Given the description of an element on the screen output the (x, y) to click on. 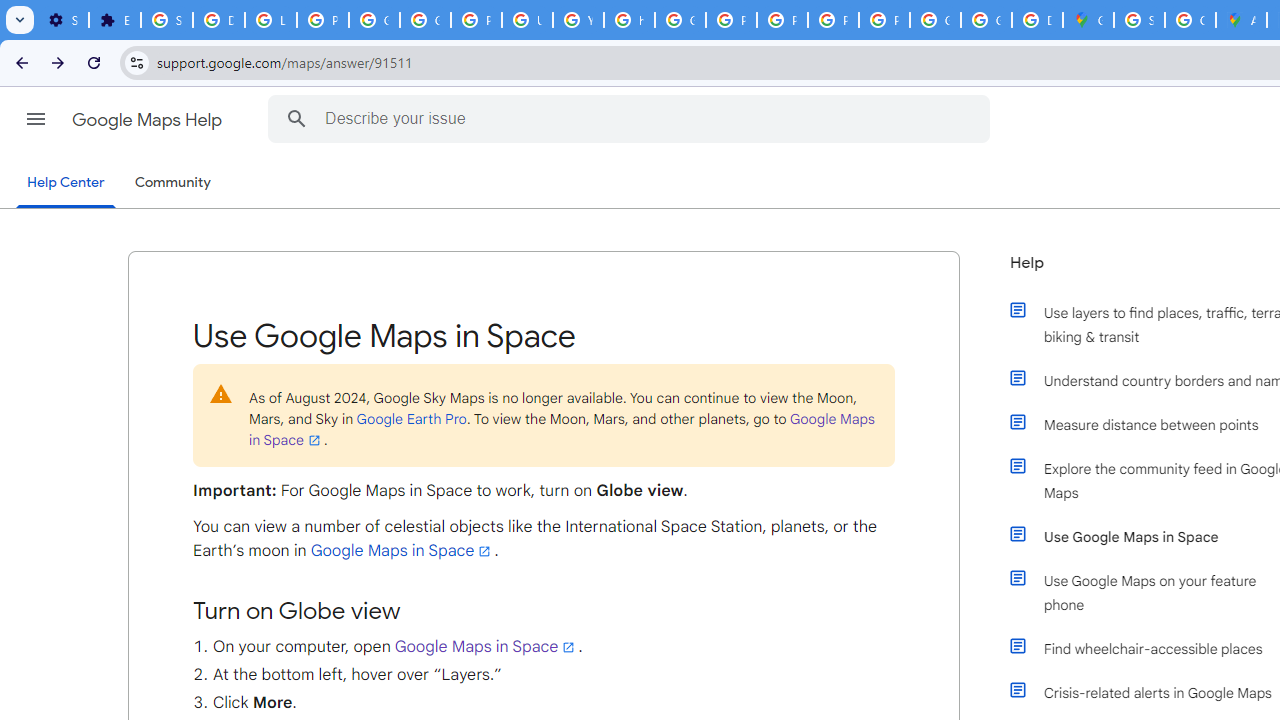
Create your Google Account (1189, 20)
https://scholar.google.com/ (629, 20)
Google Account Help (374, 20)
Google Maps Help (148, 119)
Settings - On startup (63, 20)
